Given the description of an element on the screen output the (x, y) to click on. 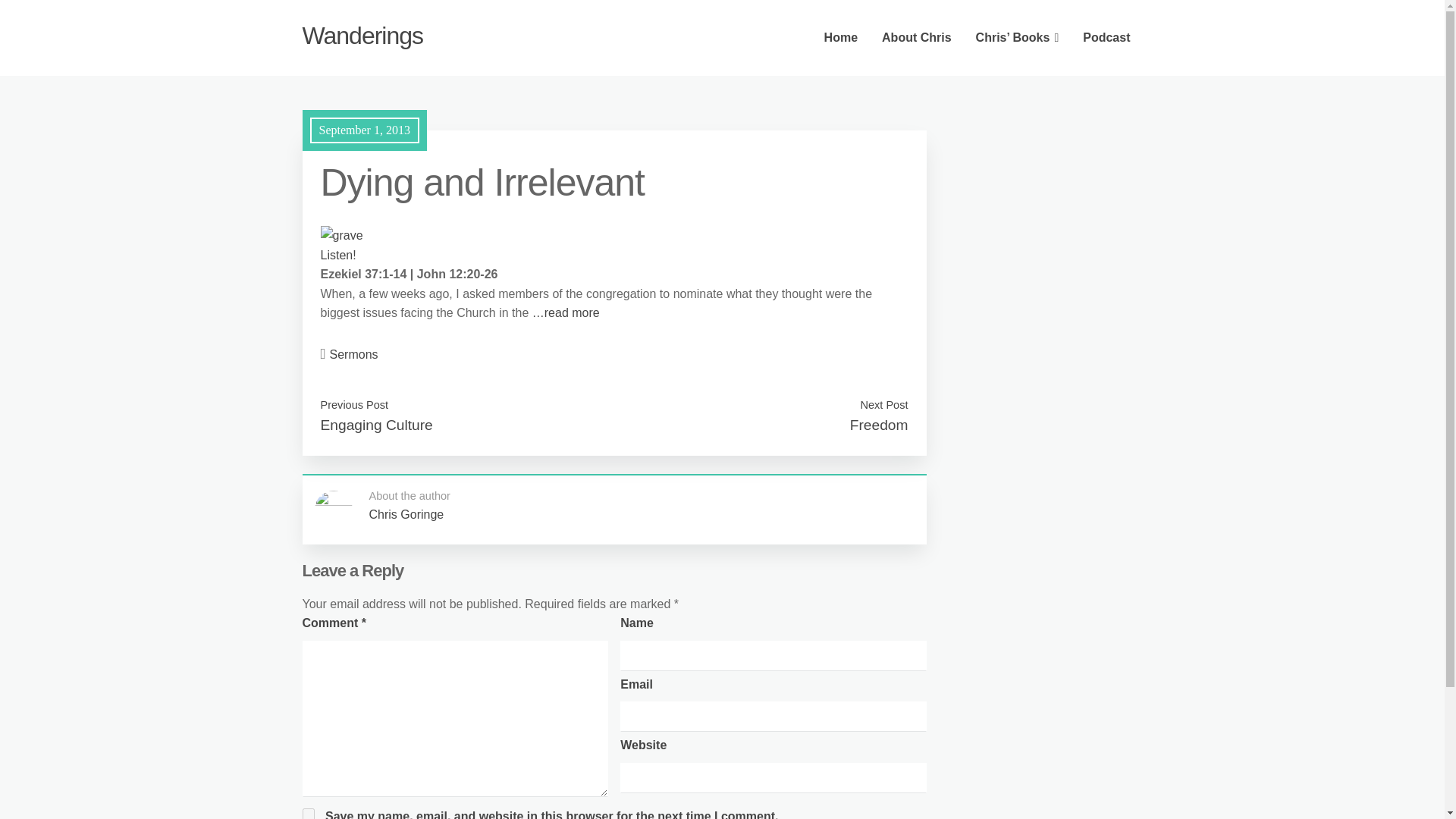
About Chris (916, 37)
Wanderings (362, 35)
Next Post (883, 404)
Listen! (337, 254)
Engaging Culture (376, 424)
Podcast (1105, 37)
Sermons (354, 354)
Previous Post (354, 404)
Freedom (879, 424)
Chris Goringe (406, 513)
Home (840, 37)
yes (307, 813)
